Given the description of an element on the screen output the (x, y) to click on. 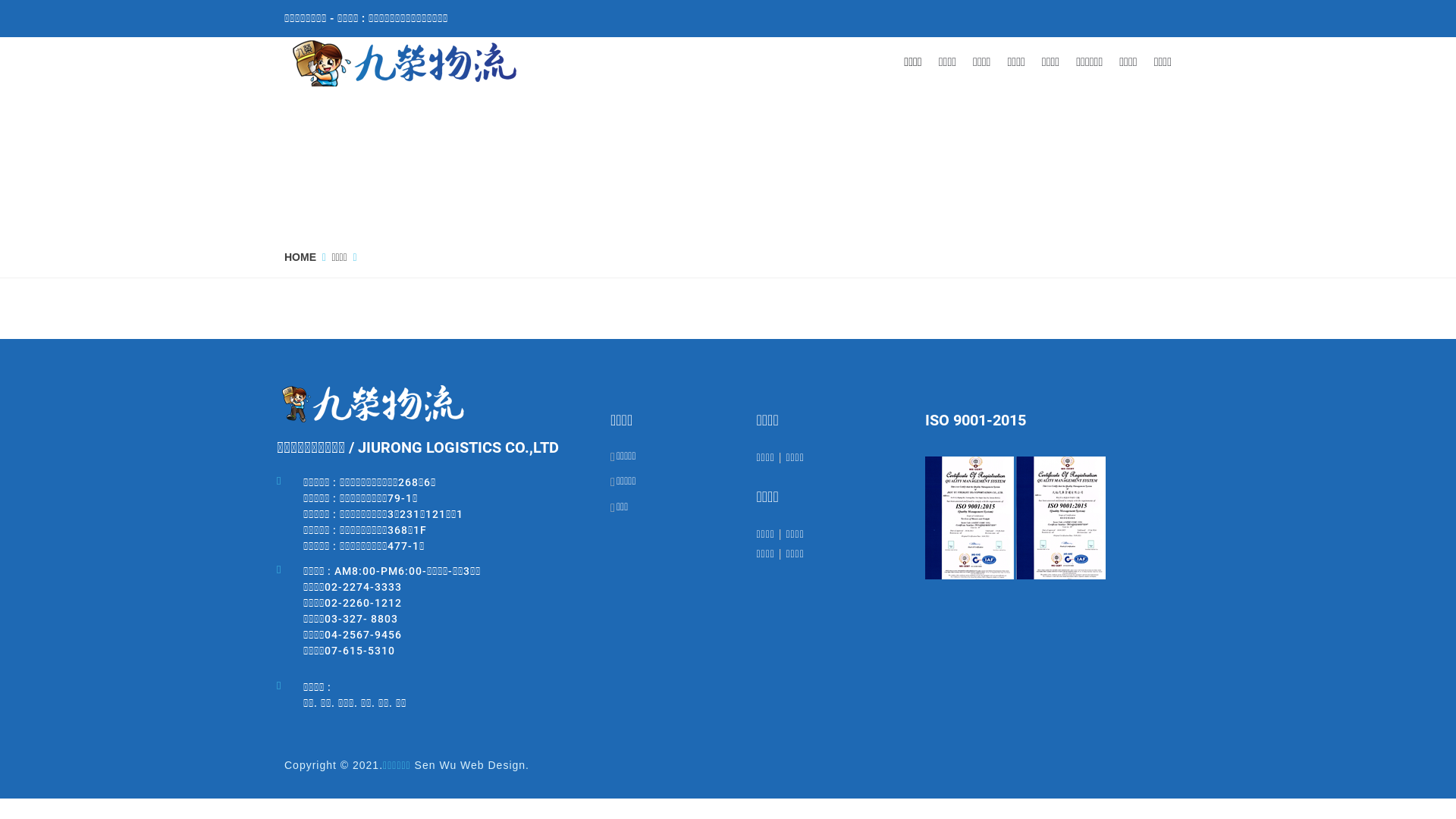
HOME Element type: text (300, 257)
